Given the description of an element on the screen output the (x, y) to click on. 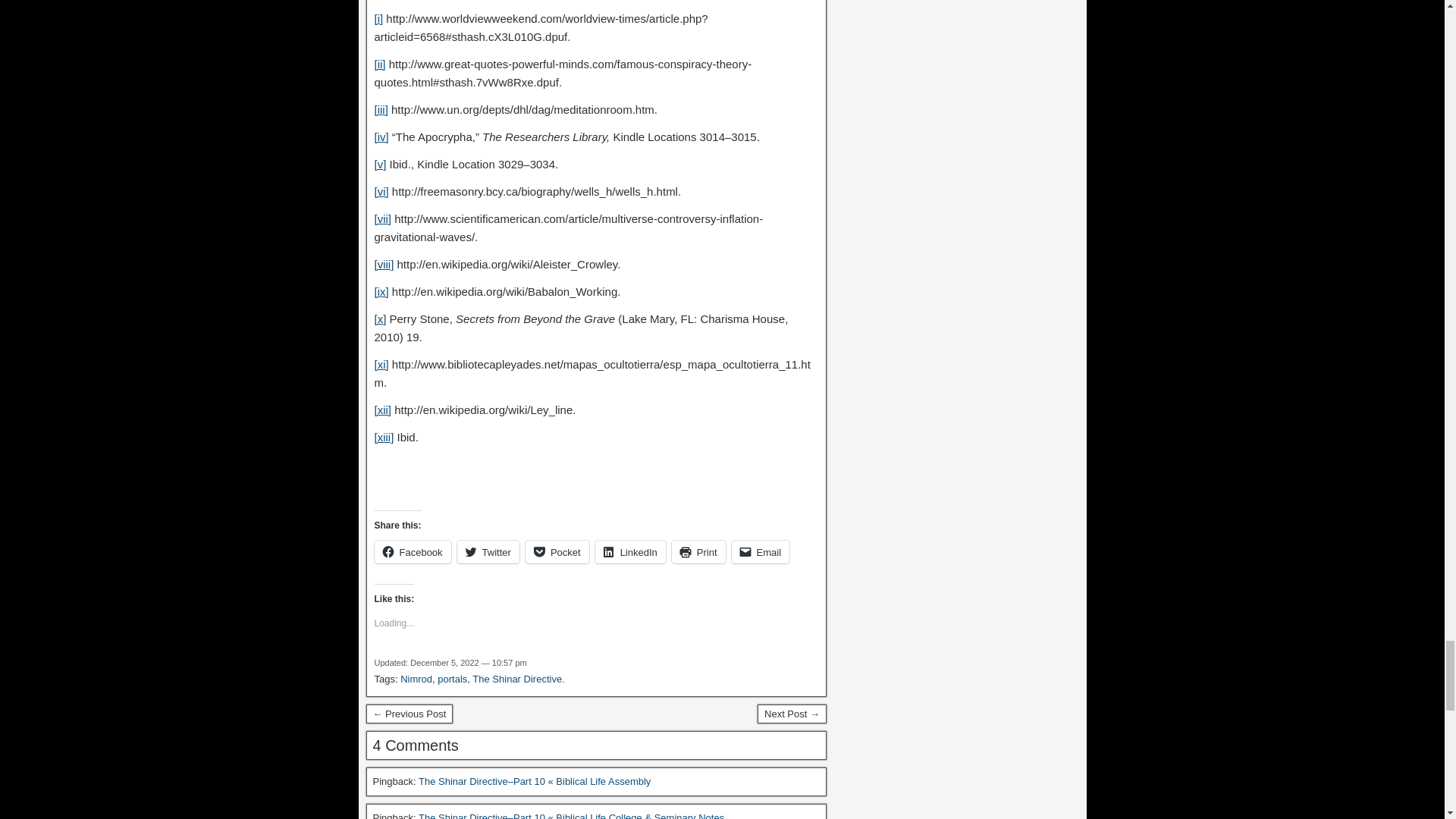
Click to share on Twitter (488, 551)
Click to email a link to a friend (761, 551)
The Shinar Directive - Part 9 (408, 713)
Click to share on LinkedIn (630, 551)
Click to share on Facebook (412, 551)
The Shinar Directive - Part 11 (792, 713)
Click to share on Pocket (557, 551)
Click to print (698, 551)
